Given the description of an element on the screen output the (x, y) to click on. 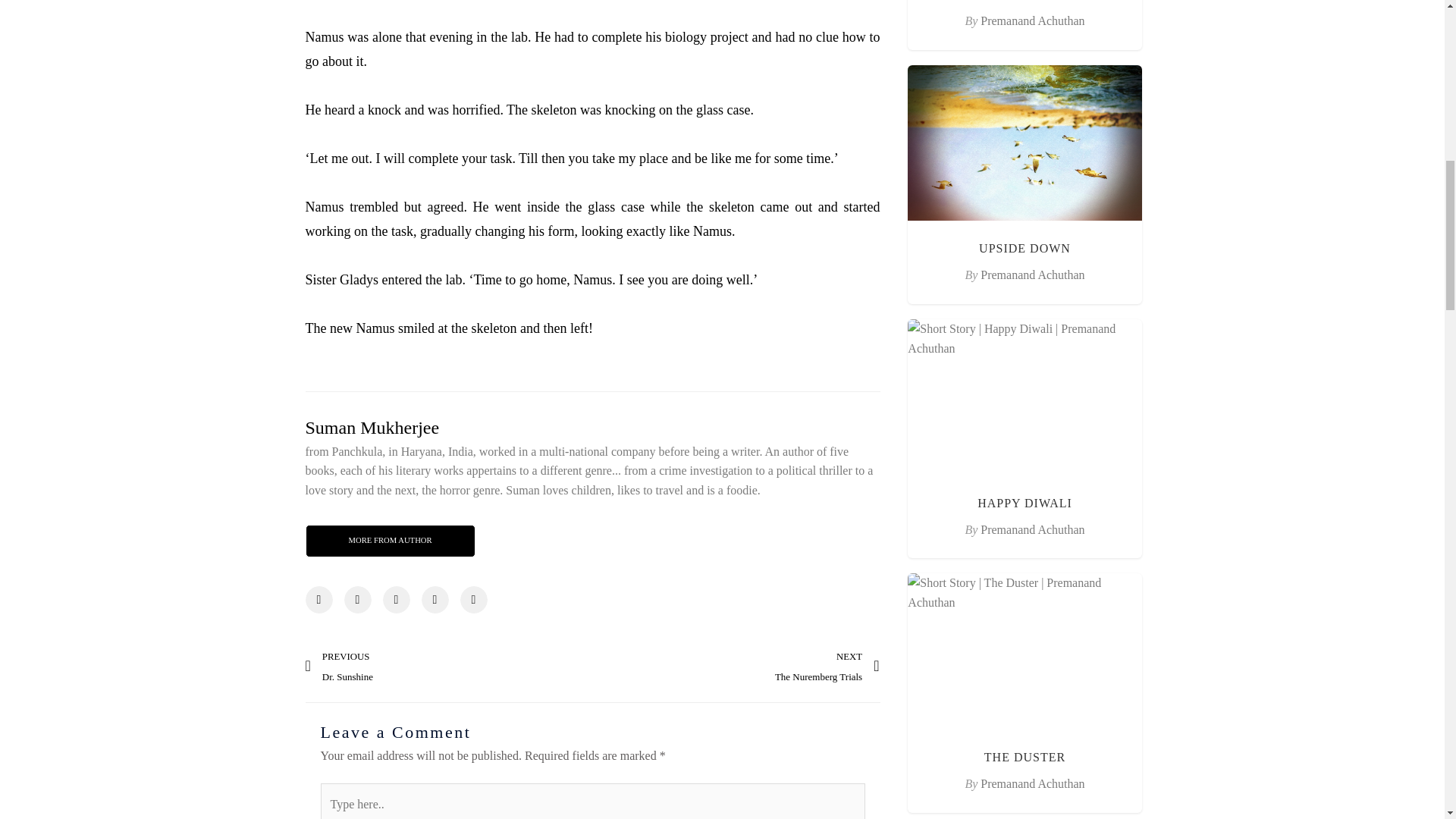
Happy Diwali (1023, 502)
Premanand Achuthan (1031, 783)
Premanand Achuthan (1031, 783)
HAPPY DIWALI (1023, 502)
Premanand Achuthan (1031, 274)
Premanand Achuthan (1031, 20)
UPSIDE DOWN (448, 666)
Premanand Achuthan (1024, 247)
Ice Lolly (1031, 274)
